Given the description of an element on the screen output the (x, y) to click on. 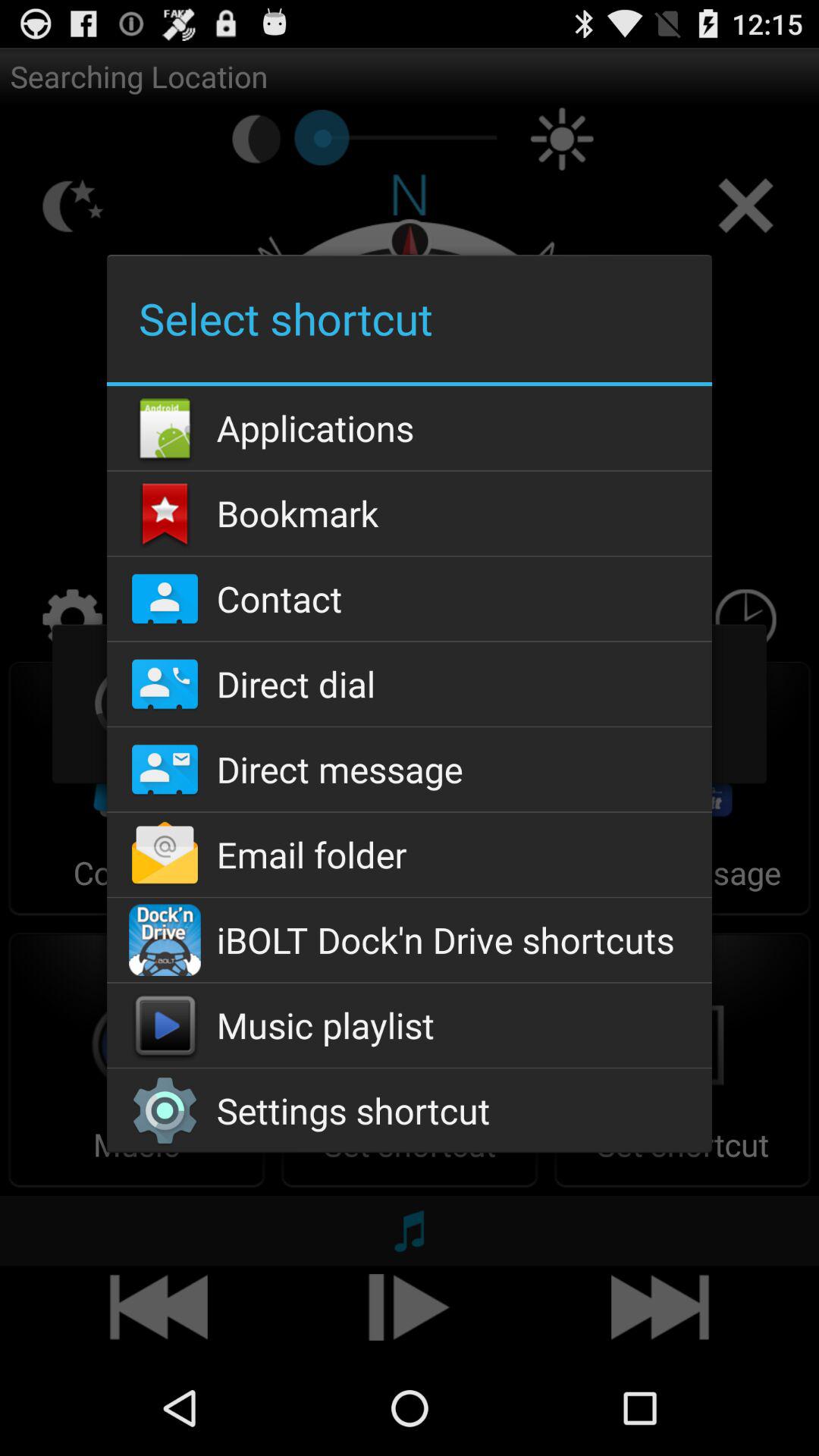
select the item below ibolt dock n app (409, 1025)
